Given the description of an element on the screen output the (x, y) to click on. 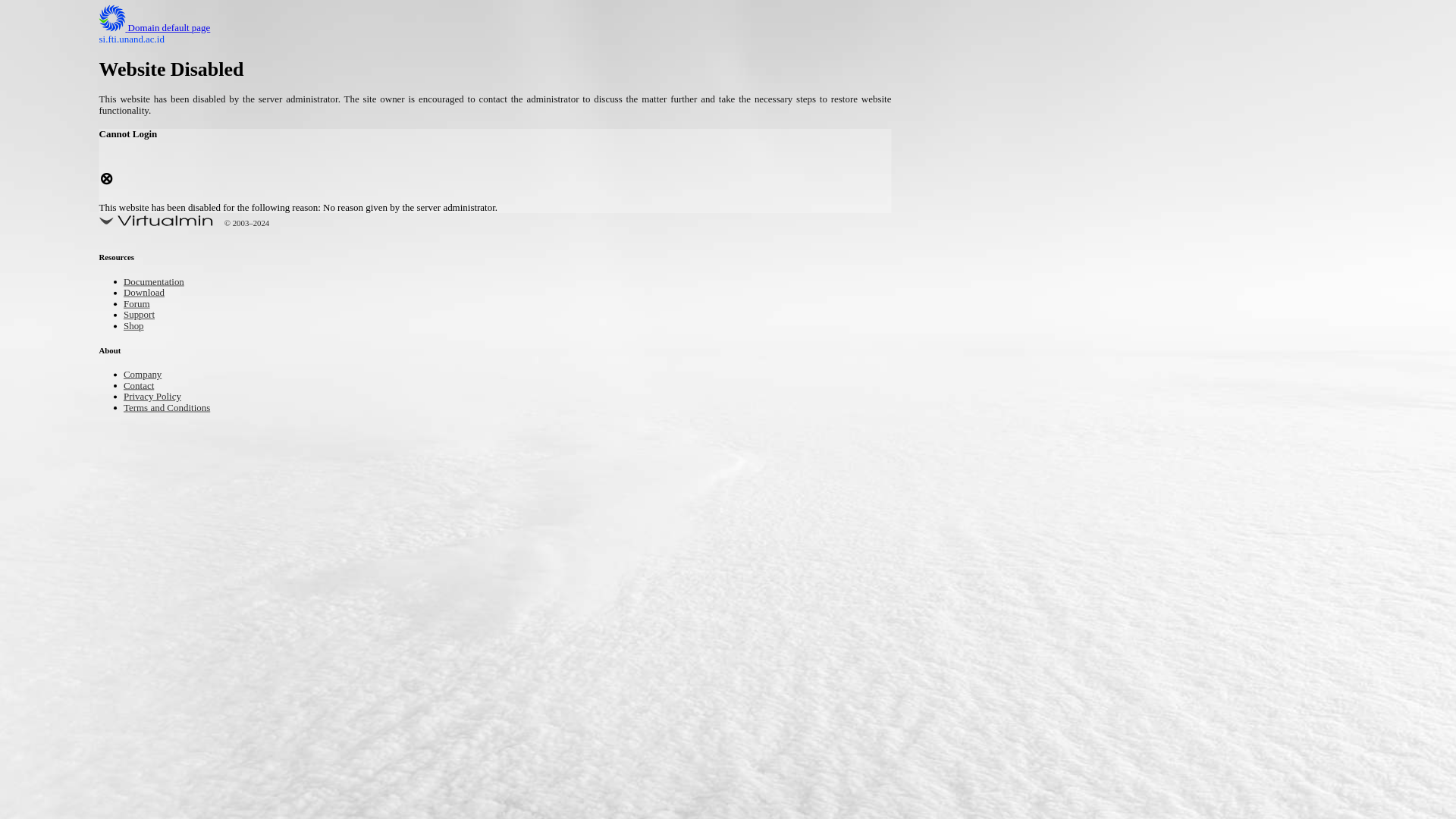
Company (146, 374)
Privacy Policy (159, 397)
Terms and Conditions (176, 408)
Domain default page (167, 29)
Shop (135, 327)
Forum (139, 305)
Support (142, 315)
Download (148, 293)
Documentation (160, 282)
Contact (142, 386)
